Given the description of an element on the screen output the (x, y) to click on. 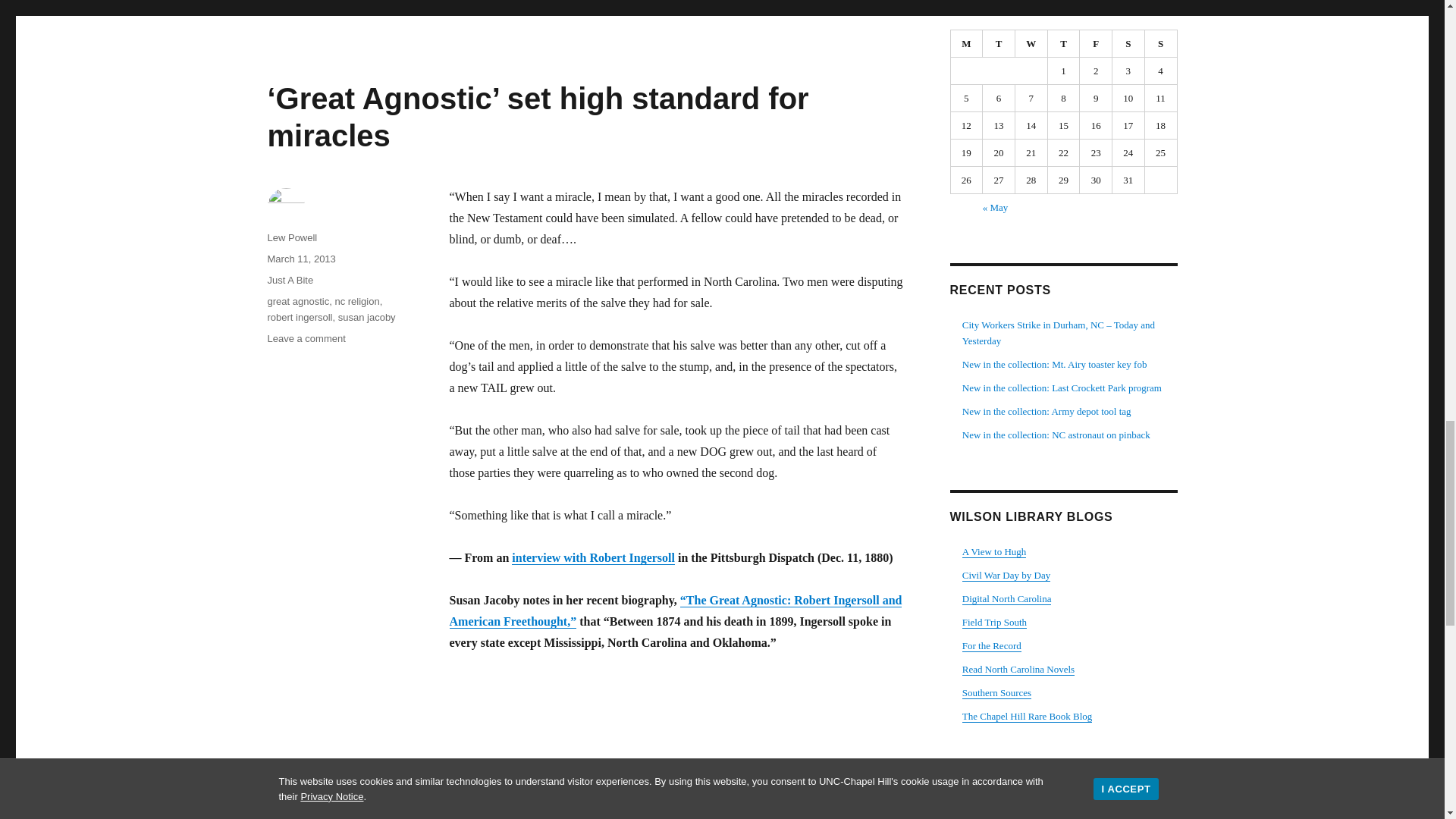
interview with Robert Ingersoll (593, 557)
Lew Powell (291, 237)
 Processing the Hugh Morton Photographs and Films (994, 551)
Thursday (1064, 43)
Wednesday (1031, 43)
Friday (1096, 43)
Tuesday (998, 43)
Sunday (1160, 43)
A guide to recent fiction set in North Carolina (1018, 668)
